Given the description of an element on the screen output the (x, y) to click on. 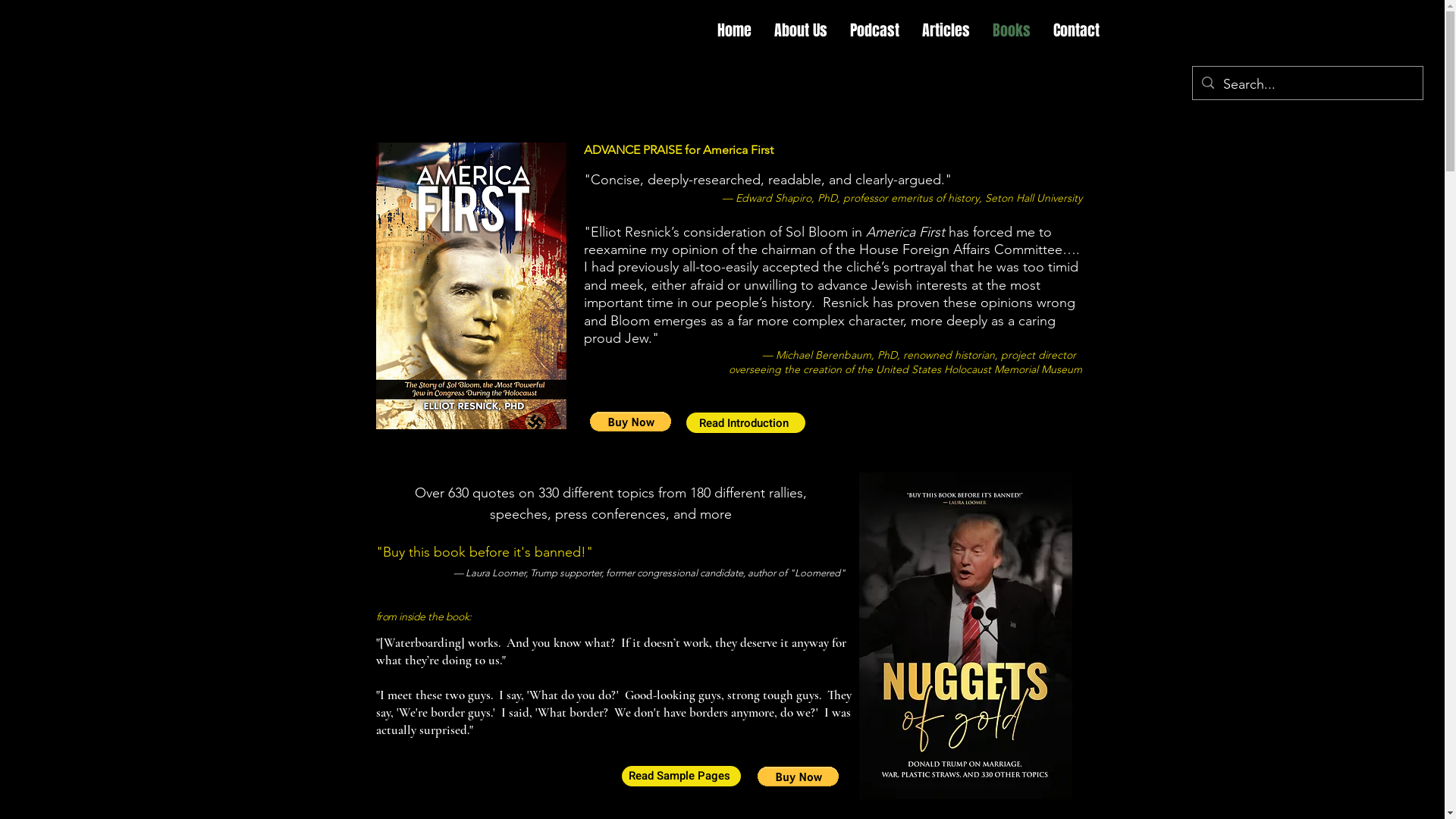
America First book Element type: hover (637, 427)
Embedded Content Element type: hover (804, 782)
Home Element type: text (733, 30)
NuggetsOfGoldCover.jpg Element type: hover (964, 635)
Read Sample Pages Element type: text (680, 775)
Books Element type: text (1011, 30)
Podcast Element type: text (874, 30)
Contact Element type: text (1075, 30)
Articles Element type: text (945, 30)
About Us Element type: text (800, 30)
Read Introduction Element type: text (744, 422)
